Given the description of an element on the screen output the (x, y) to click on. 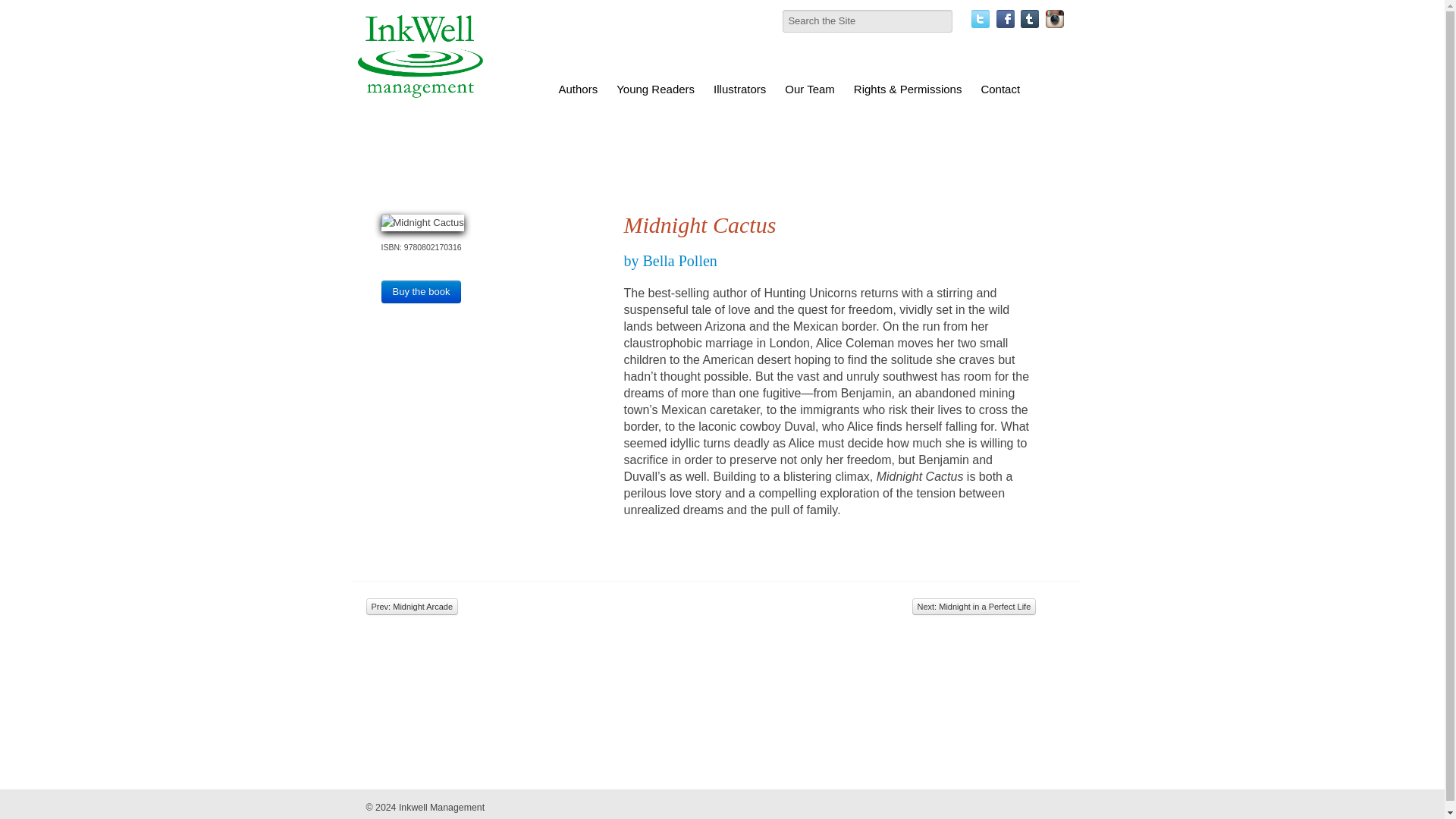
Midnight Cactus (421, 222)
Illustrators (740, 89)
Search the Site (867, 20)
Prev: Midnight Arcade (411, 606)
by Bella Pollen (669, 260)
Buy the book (420, 291)
Our Team (809, 89)
Next: Midnight in a Perfect Life (973, 606)
Authors (578, 89)
Contact (999, 89)
